Given the description of an element on the screen output the (x, y) to click on. 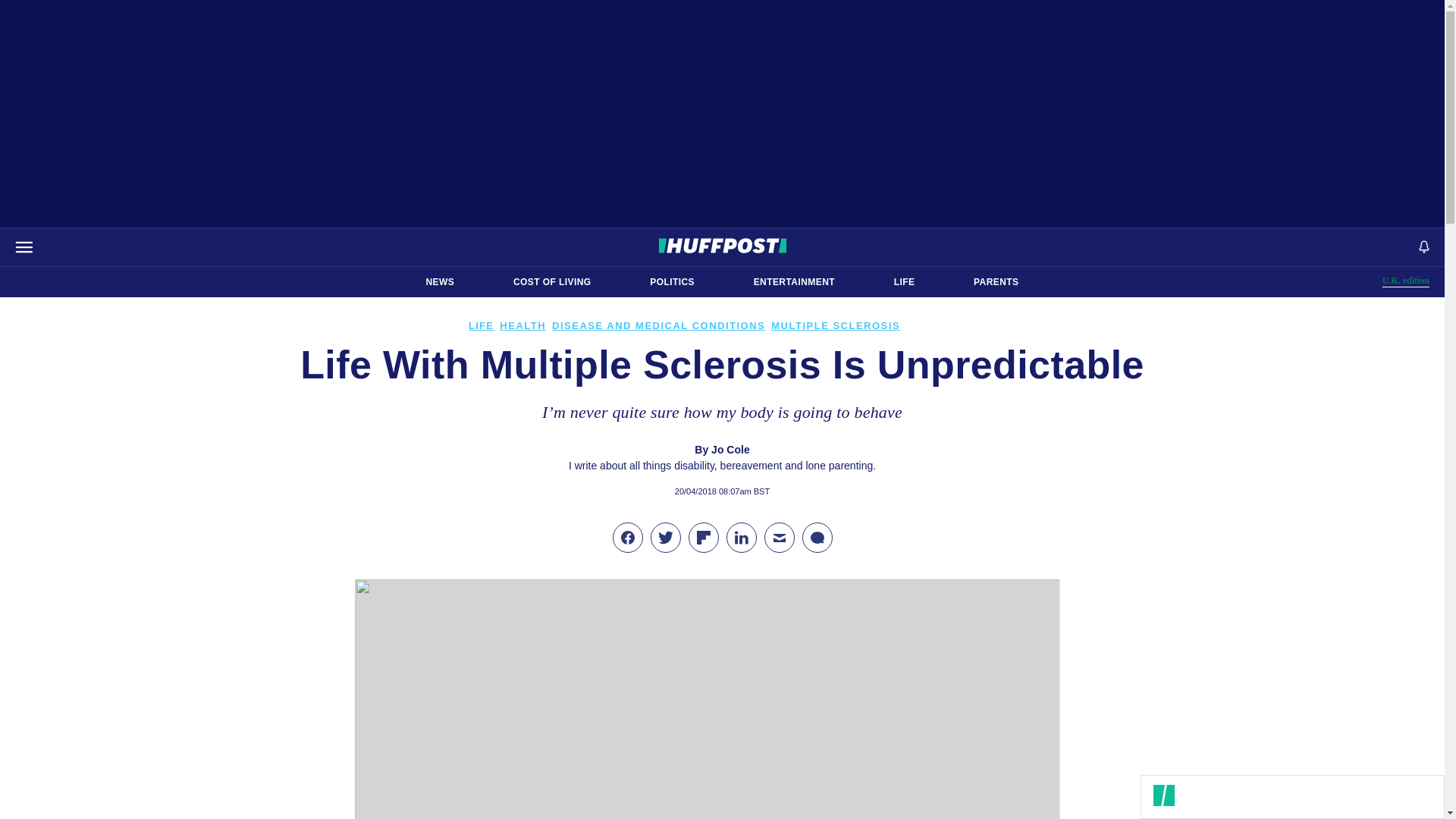
POLITICS (671, 281)
PARENTS (995, 281)
ENTERTAINMENT (794, 281)
COST OF LIVING (552, 281)
NEWS (440, 281)
LIFE (1405, 281)
